Given the description of an element on the screen output the (x, y) to click on. 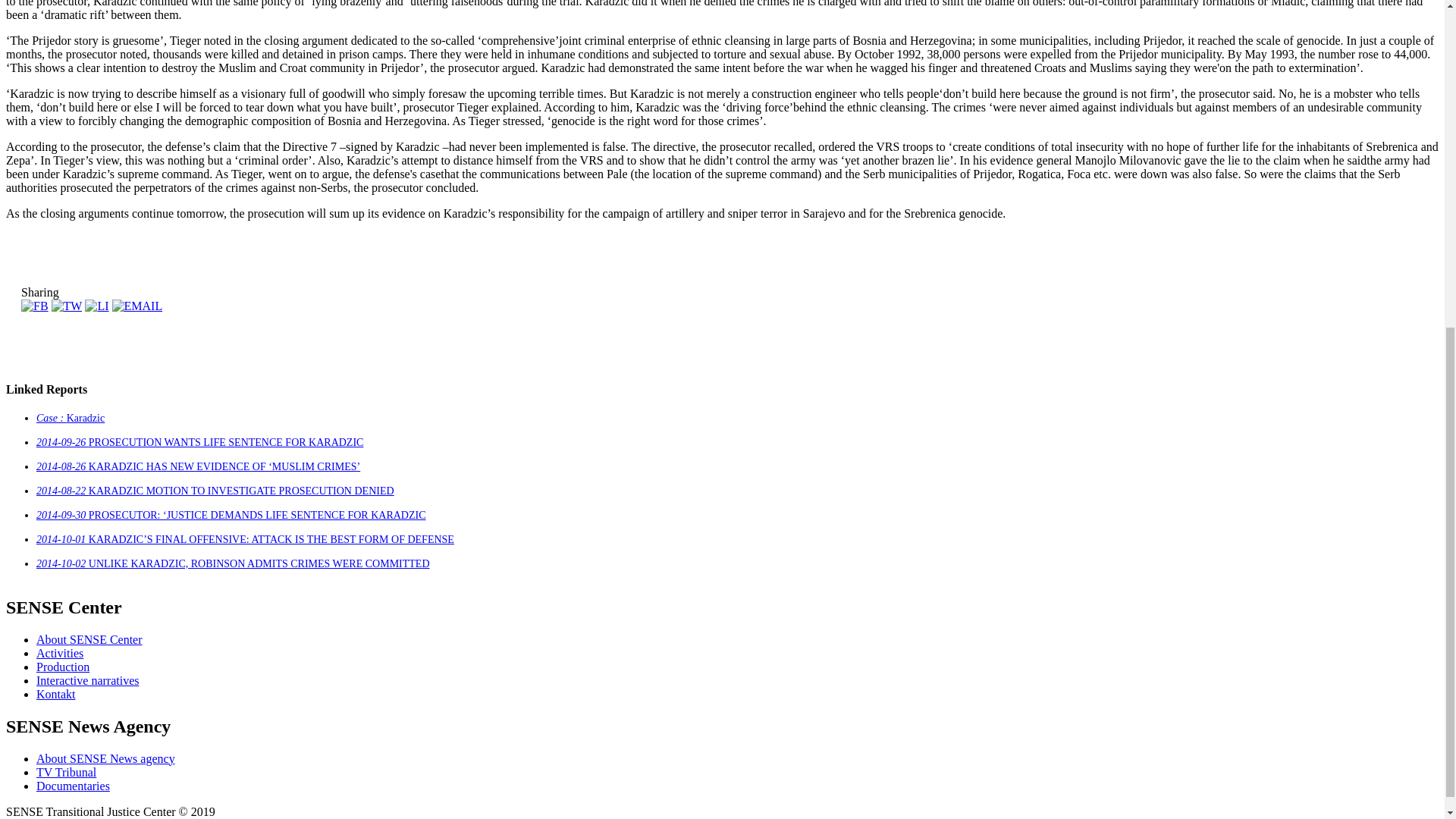
Production (62, 666)
2014-09-26 PROSECUTION WANTS LIFE SENTENCE FOR KARADZIC (199, 441)
About SENSE Center (89, 639)
2014-08-22 KARADZIC MOTION TO INVESTIGATE PROSECUTION DENIED (215, 490)
Interactive narratives (87, 680)
About SENSE News agency (105, 758)
Activities (59, 653)
Documentaries (73, 785)
Case : Karadzic (70, 418)
Kontakt (55, 694)
In Bosnian, Croatian or Serbian langauge (66, 771)
TV Tribunal (66, 771)
